Given the description of an element on the screen output the (x, y) to click on. 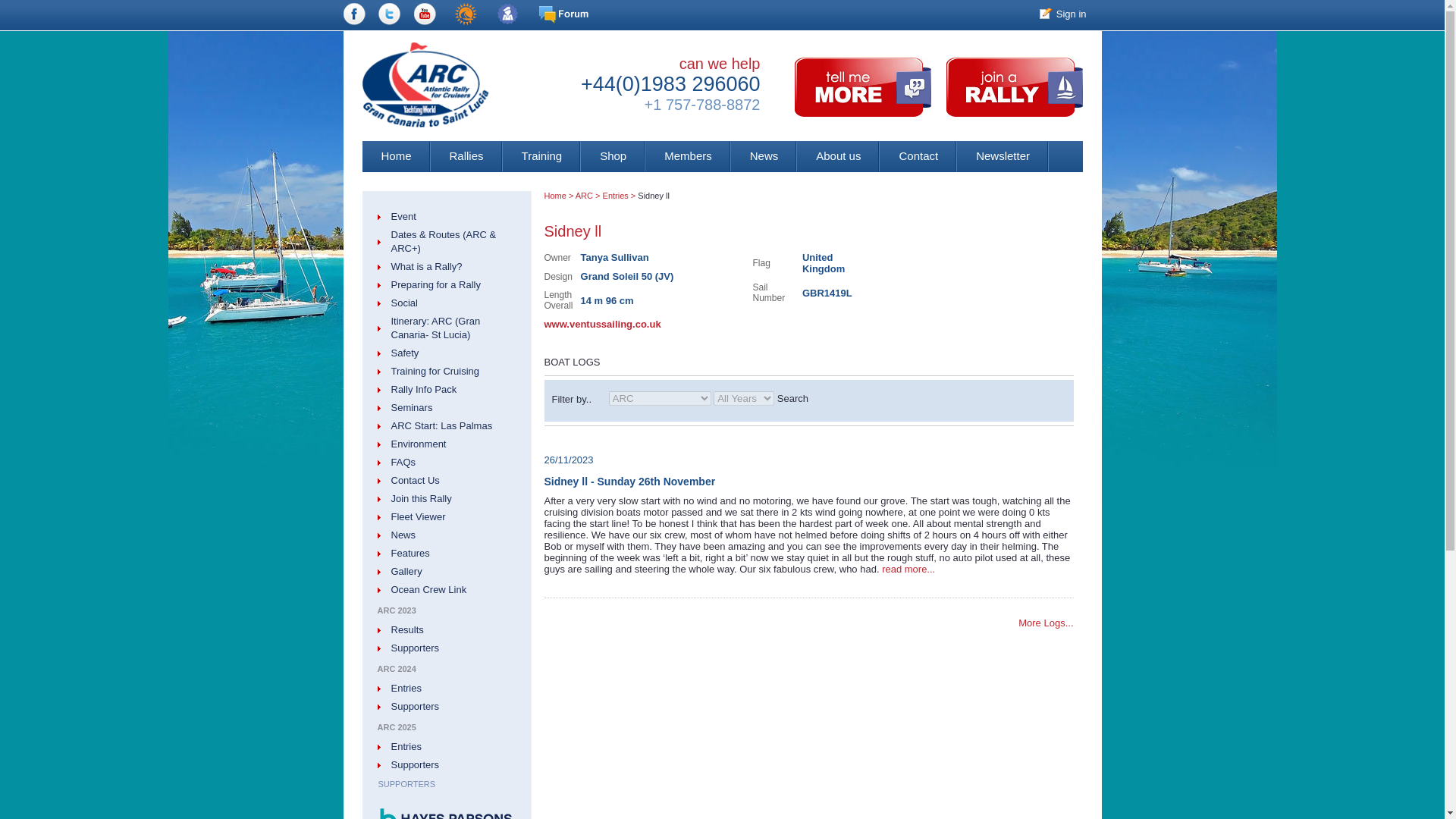
Members (687, 155)
Rallies (466, 155)
News (763, 155)
Home (396, 155)
Shop (612, 155)
Training (541, 155)
